Given the description of an element on the screen output the (x, y) to click on. 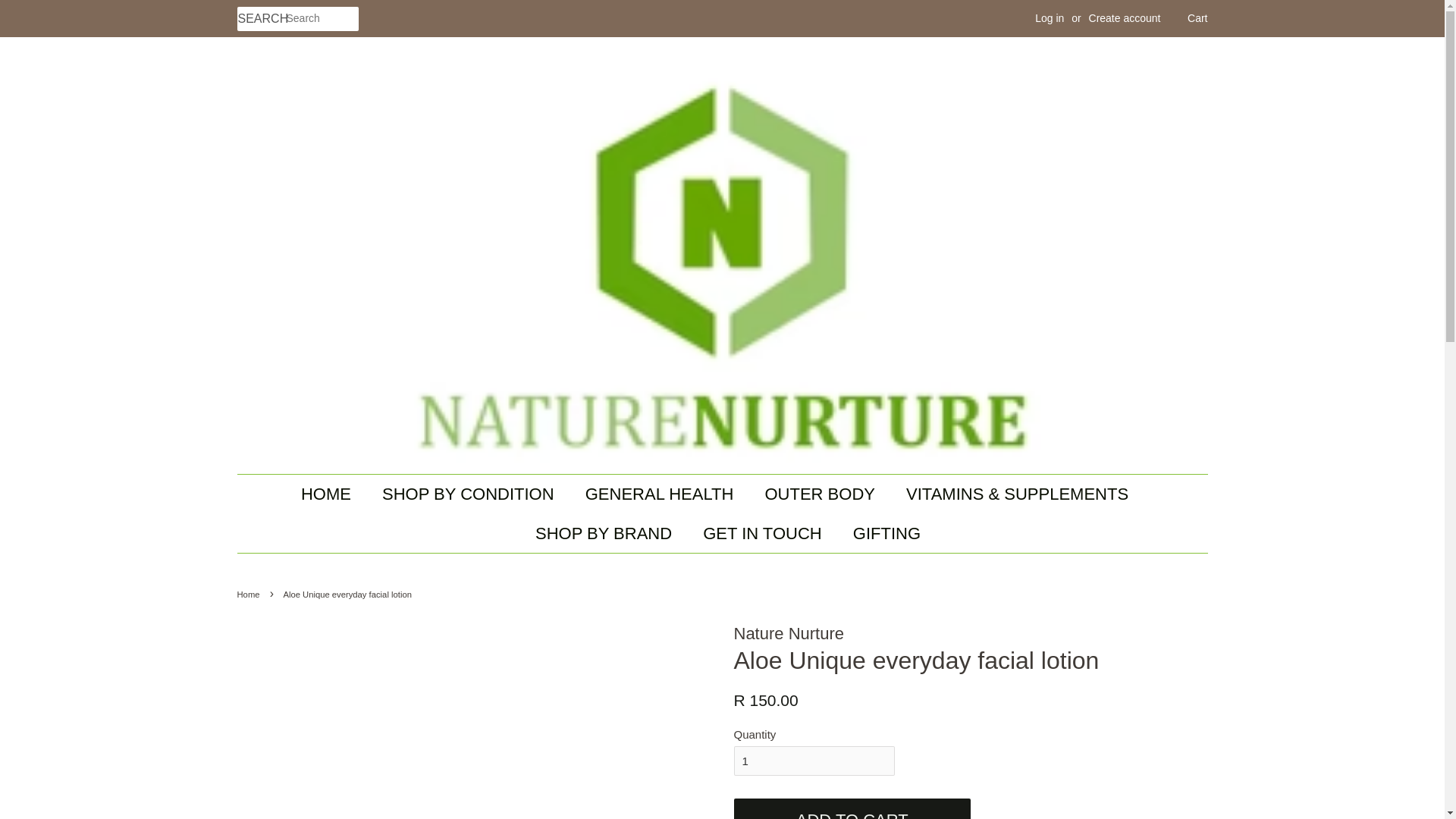
Back to the frontpage (249, 593)
Cart (1197, 18)
Create account (1124, 18)
SEARCH (260, 18)
Log in (1049, 18)
1 (814, 760)
